Given the description of an element on the screen output the (x, y) to click on. 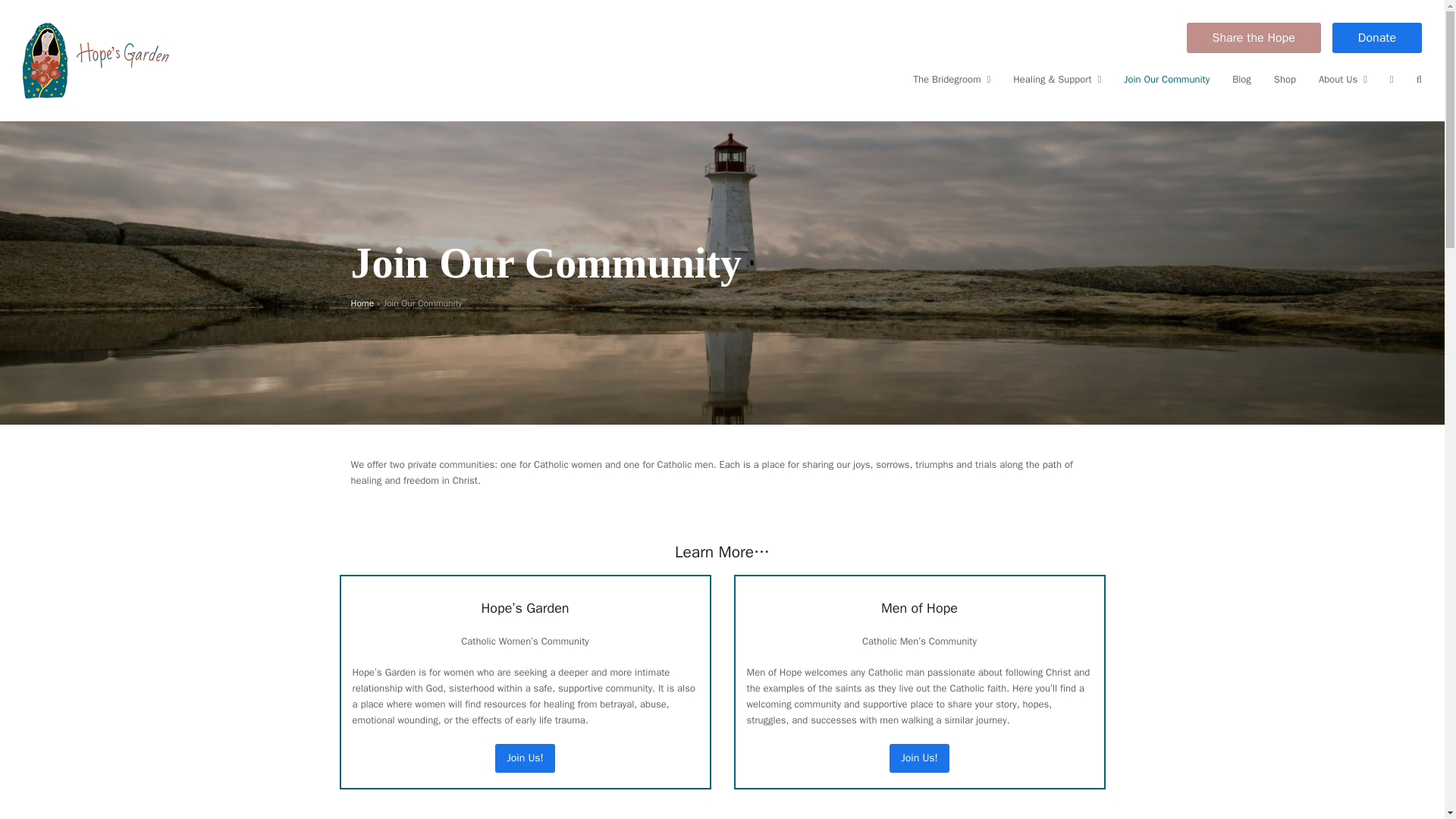
Shop (1284, 79)
Join Us! (919, 757)
Blog (1241, 79)
The Bridegroom (952, 79)
Join Our Community (1166, 79)
Donate (1377, 37)
Home (362, 303)
About Us (1342, 79)
Donate (1376, 37)
Share the Hope (1253, 37)
Share the Hope (1253, 37)
Join Us! (524, 757)
